Given the description of an element on the screen output the (x, y) to click on. 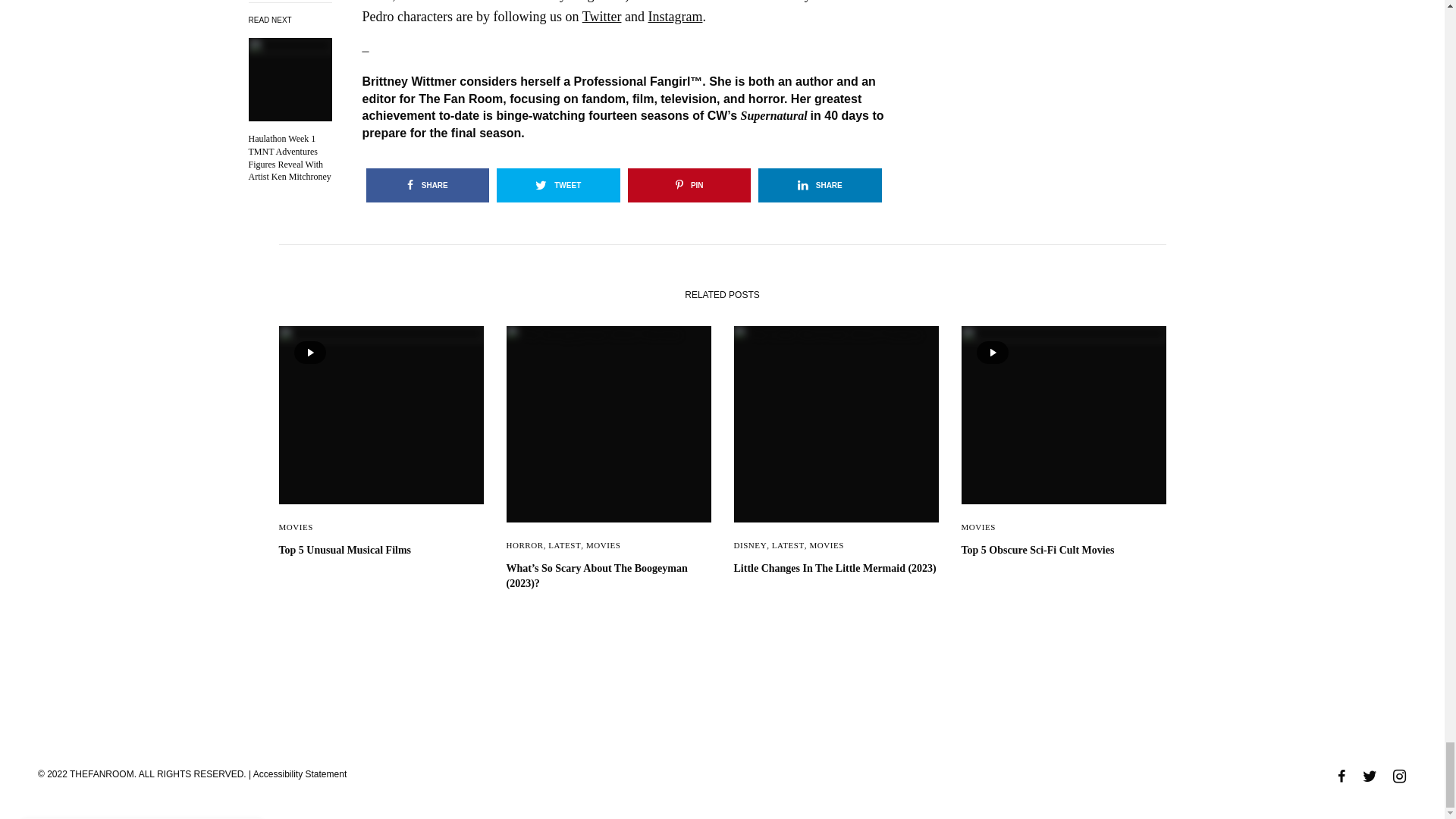
PIN (689, 185)
TWEET (558, 185)
SHARE (820, 185)
Twitter (601, 16)
Instagram (674, 16)
Top 5 Unusual Musical Films (381, 549)
SHARE (427, 185)
Top 5 Obscure Sci-Fi Cult Movies (1063, 549)
